Given the description of an element on the screen output the (x, y) to click on. 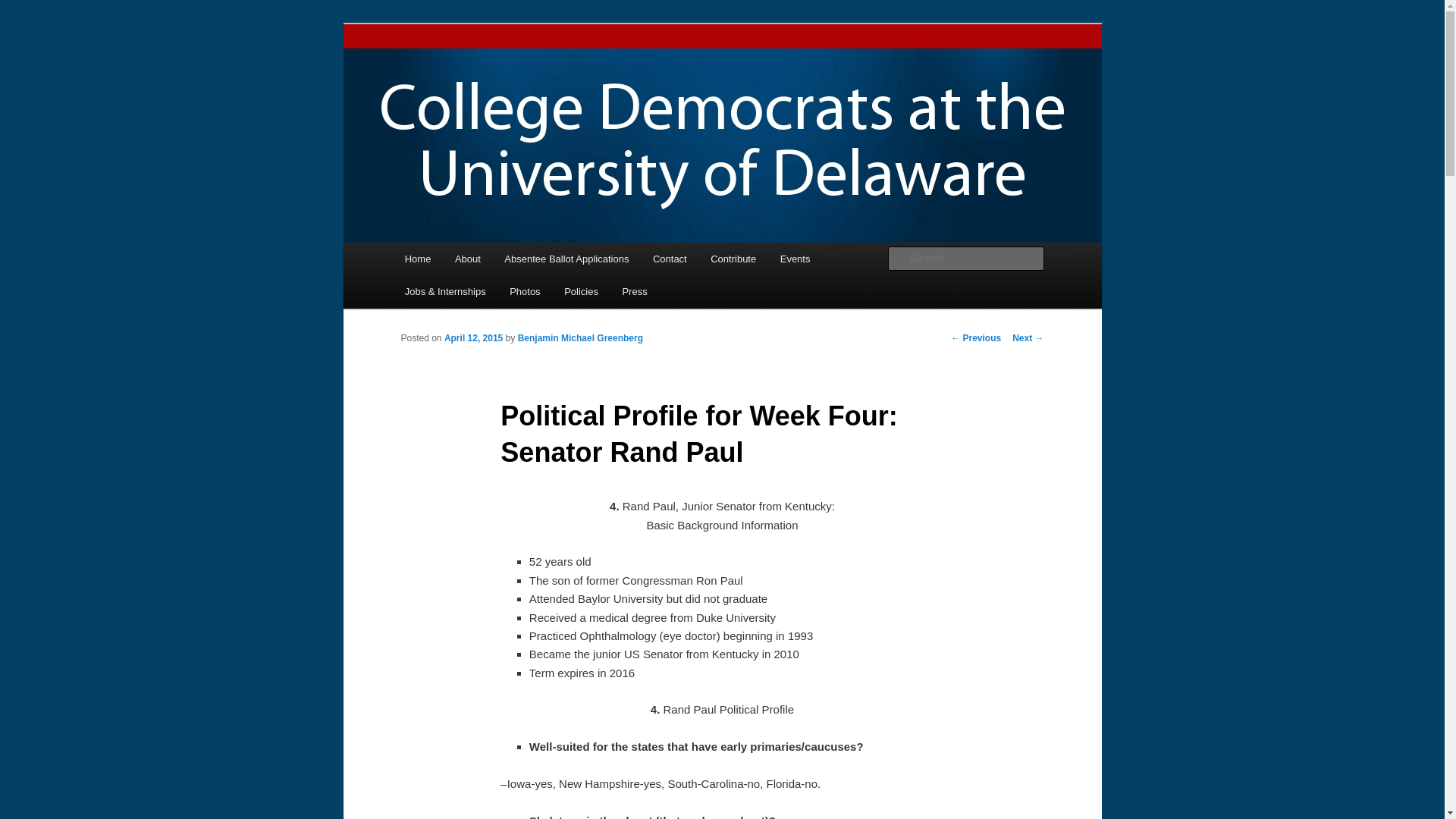
Home (417, 258)
April 12, 2015 (473, 337)
Contact (669, 258)
UD Democrats (478, 78)
View all posts by Benjamin Michael Greenberg (580, 337)
About (467, 258)
Search (24, 8)
Policies (580, 291)
Photos (524, 291)
